Given the description of an element on the screen output the (x, y) to click on. 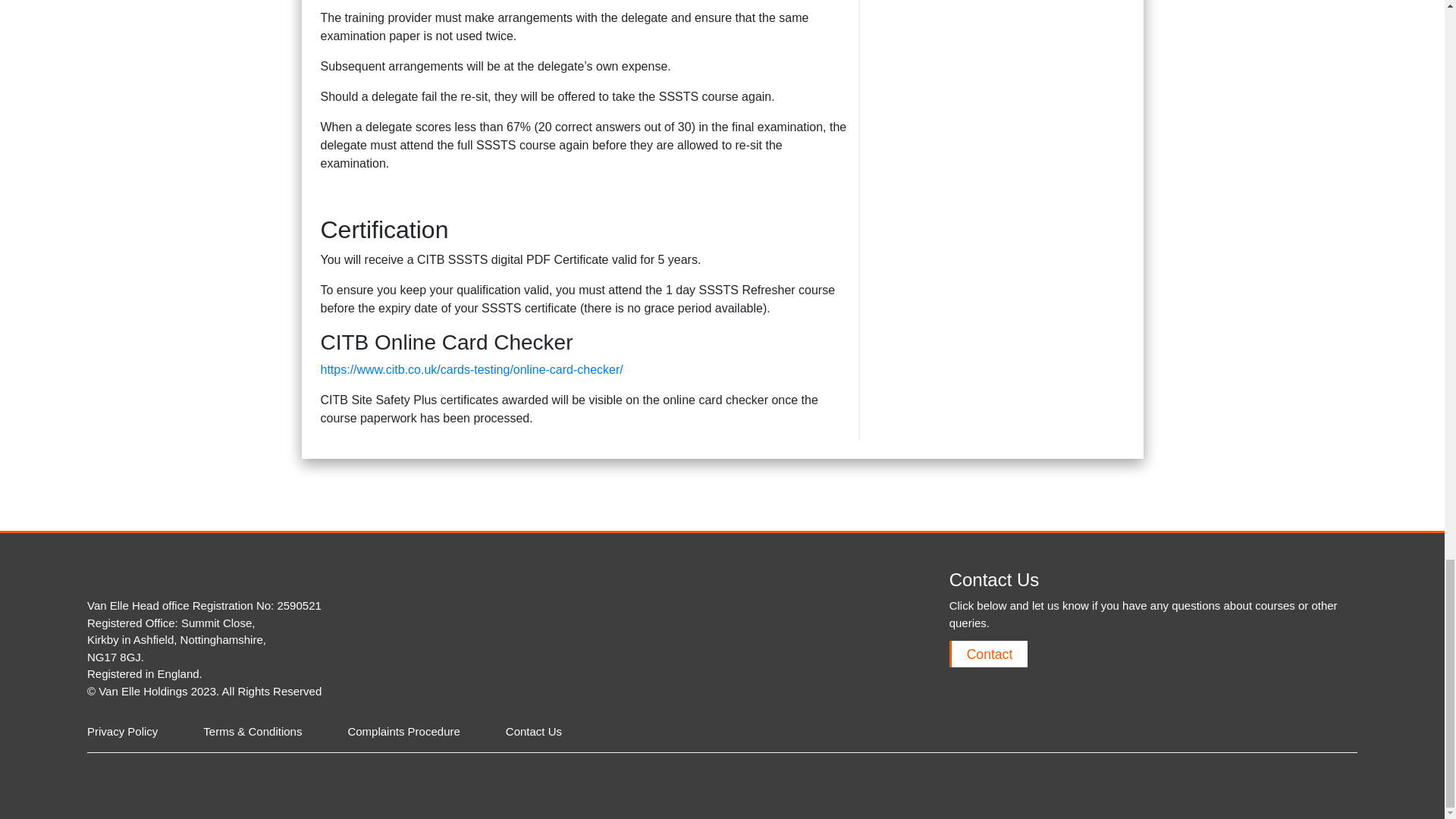
Contact (988, 653)
Privacy Policy (122, 730)
Contact Us (533, 730)
Complaints Procedure (403, 730)
